Given the description of an element on the screen output the (x, y) to click on. 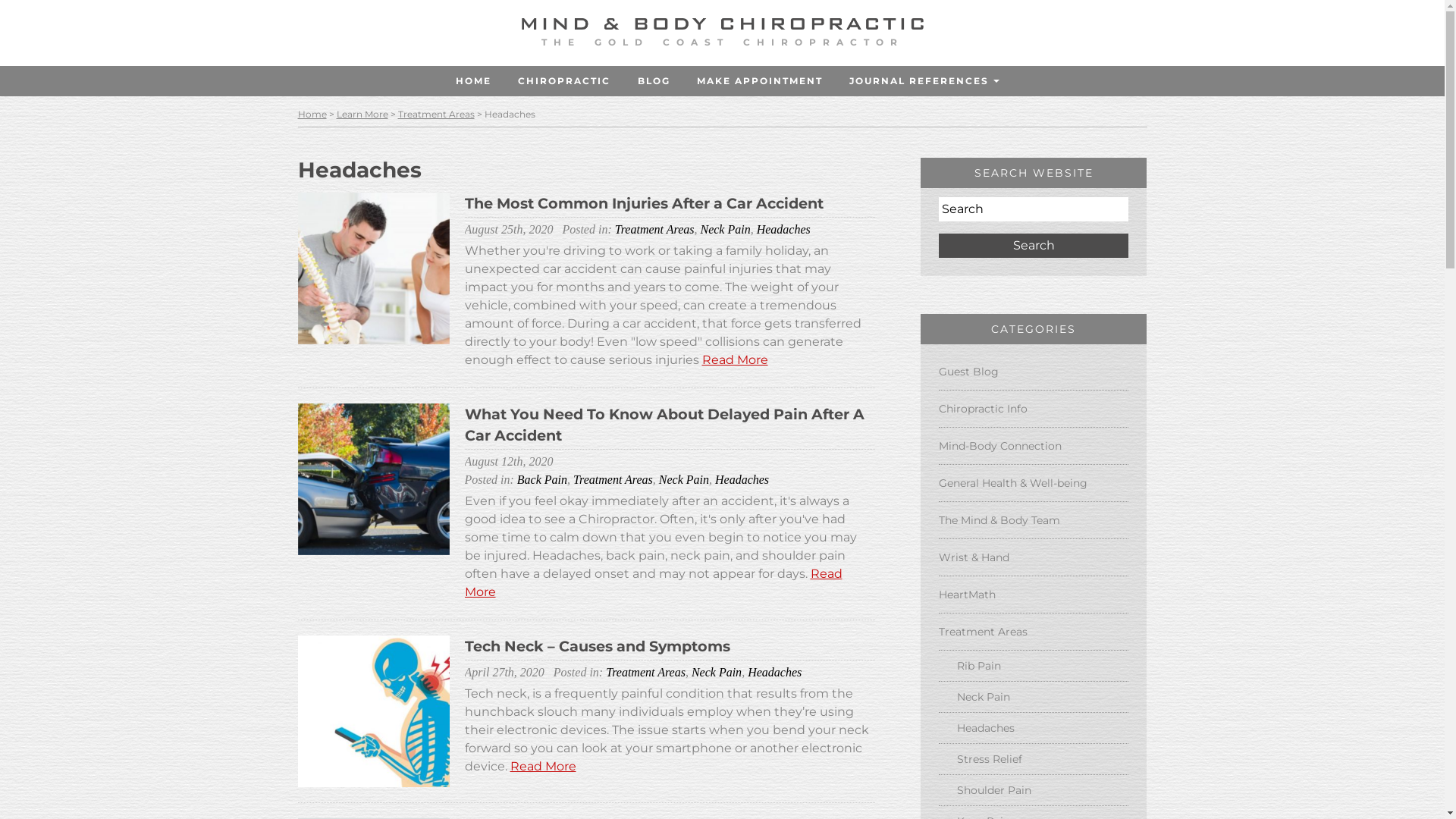
Shoulder Pain Element type: text (1033, 790)
Search Element type: text (1033, 245)
Guest Blog Element type: text (1033, 371)
THE GOLD COAST CHIROPRACTOR Element type: text (722, 38)
The Most Common Injuries After a Car Accident Element type: text (643, 203)
Rib Pain Element type: text (1033, 665)
Treatment Areas Element type: text (1033, 631)
Treatment Areas Element type: text (612, 479)
Headaches Element type: text (1033, 727)
Read More Element type: text (542, 766)
Neck Pain Element type: text (683, 479)
Treatment Areas Element type: text (654, 228)
General Health & Well-being Element type: text (1033, 482)
Treatment Areas Element type: text (645, 671)
Neck Pain Element type: text (1033, 696)
Headaches Element type: text (741, 479)
JOURNAL REFERENCES Element type: text (918, 80)
Headaches Element type: text (783, 228)
Treatment Areas Element type: text (435, 114)
Chiropractic Info Element type: text (1033, 408)
Mind-Body Connection Element type: text (1033, 445)
Neck Pain Element type: text (716, 671)
HeartMath Element type: text (1033, 594)
Back Pain Element type: text (542, 479)
HOME Element type: text (473, 80)
Headaches Element type: text (774, 671)
Read More Element type: text (735, 359)
BLOG Element type: text (653, 80)
CHIROPRACTIC Element type: text (564, 80)
Learn More Element type: text (362, 114)
MAKE APPOINTMENT Element type: text (759, 80)
The Mind & Body Team Element type: text (1033, 520)
Read More Element type: text (652, 582)
Stress Relief Element type: text (1033, 758)
Neck Pain Element type: text (724, 228)
Home Element type: text (311, 114)
Wrist & Hand Element type: text (1033, 557)
